Given the description of an element on the screen output the (x, y) to click on. 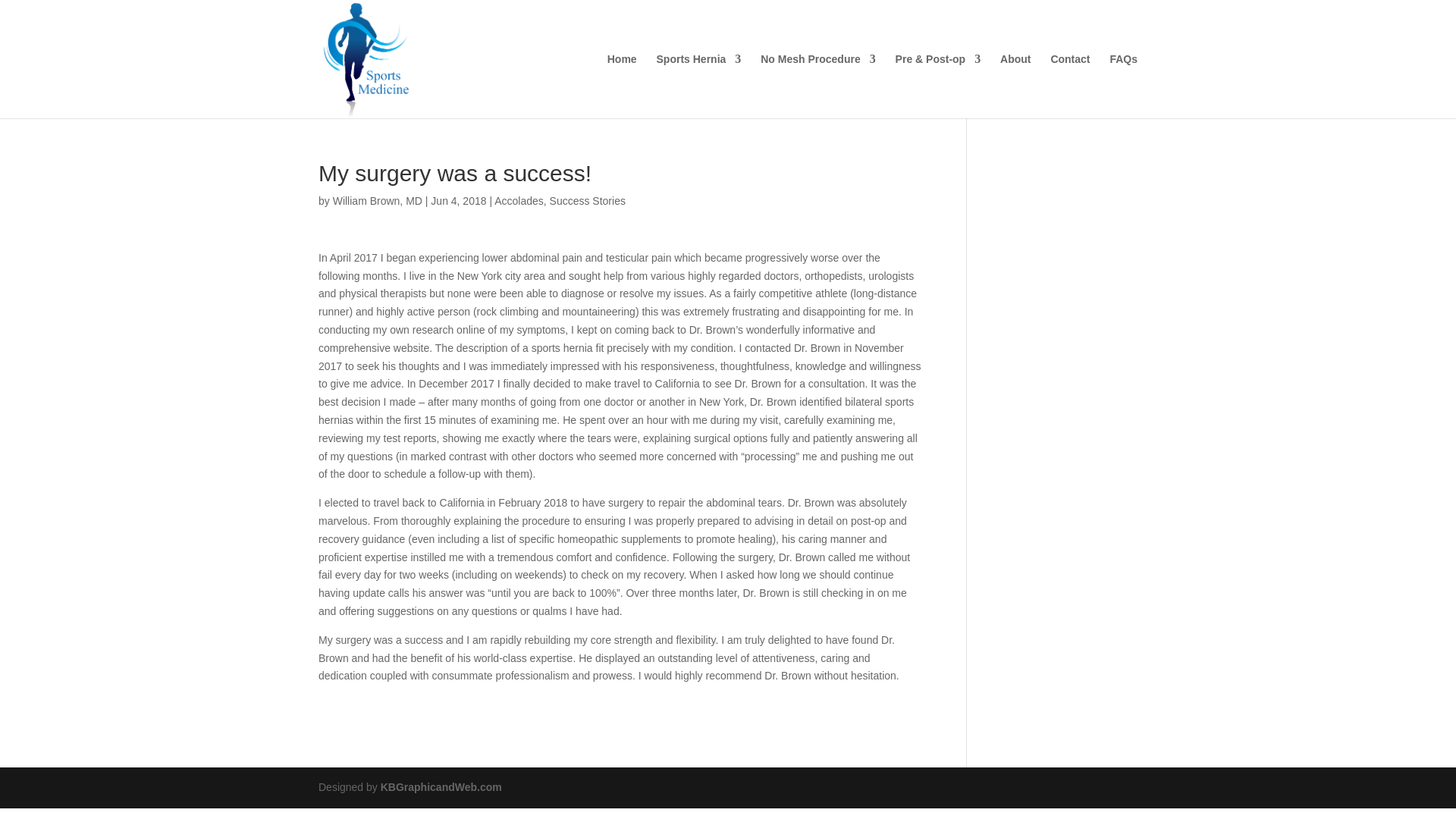
William Brown, MD (377, 200)
KBGraphicandWeb.com (441, 787)
No Mesh Procedure (817, 85)
Accolades (519, 200)
Posts by William Brown, MD (377, 200)
Sports Hernia (698, 85)
Success Stories (588, 200)
